Given the description of an element on the screen output the (x, y) to click on. 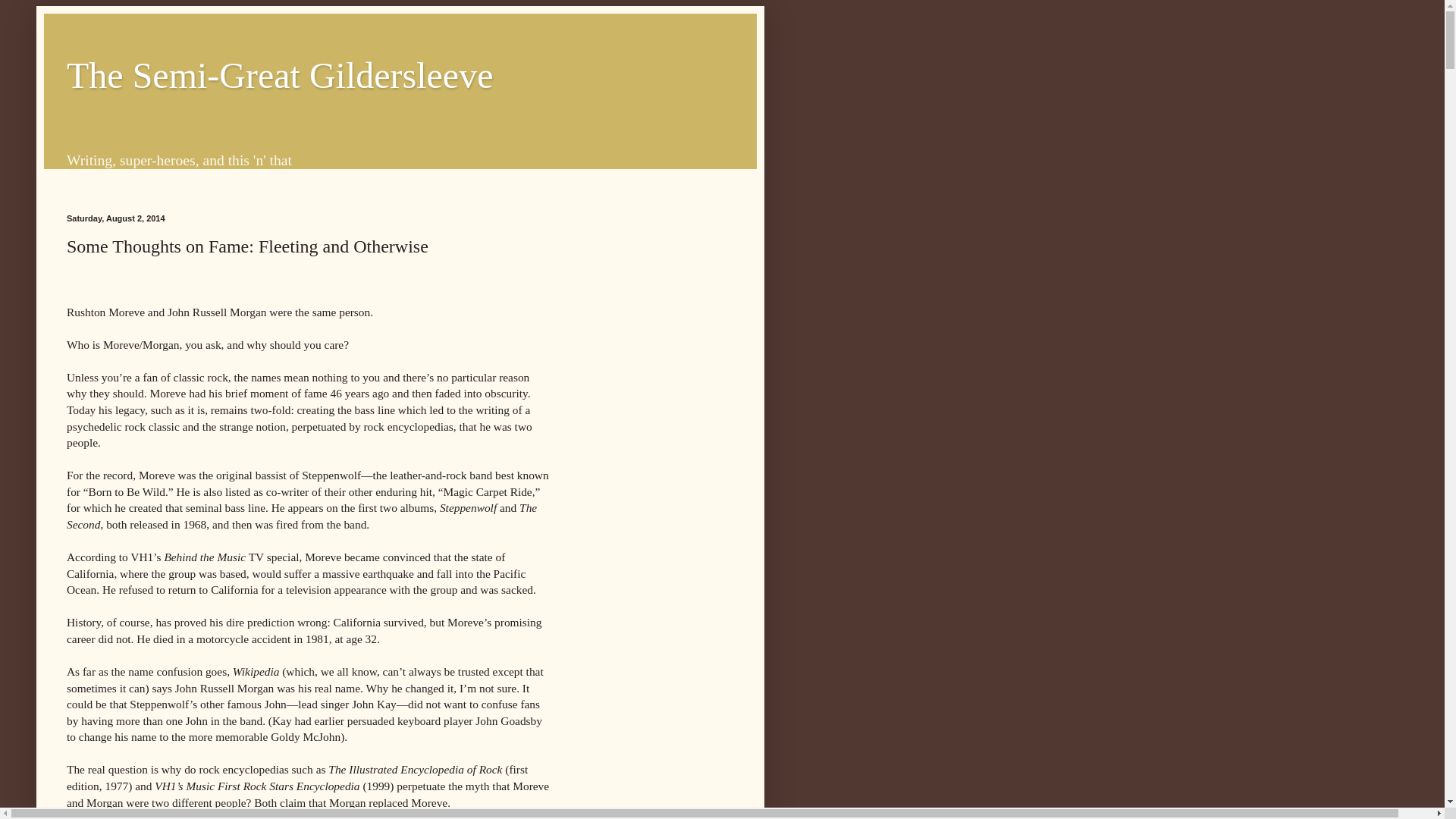
The Semi-Great Gildersleeve (279, 75)
